Given the description of an element on the screen output the (x, y) to click on. 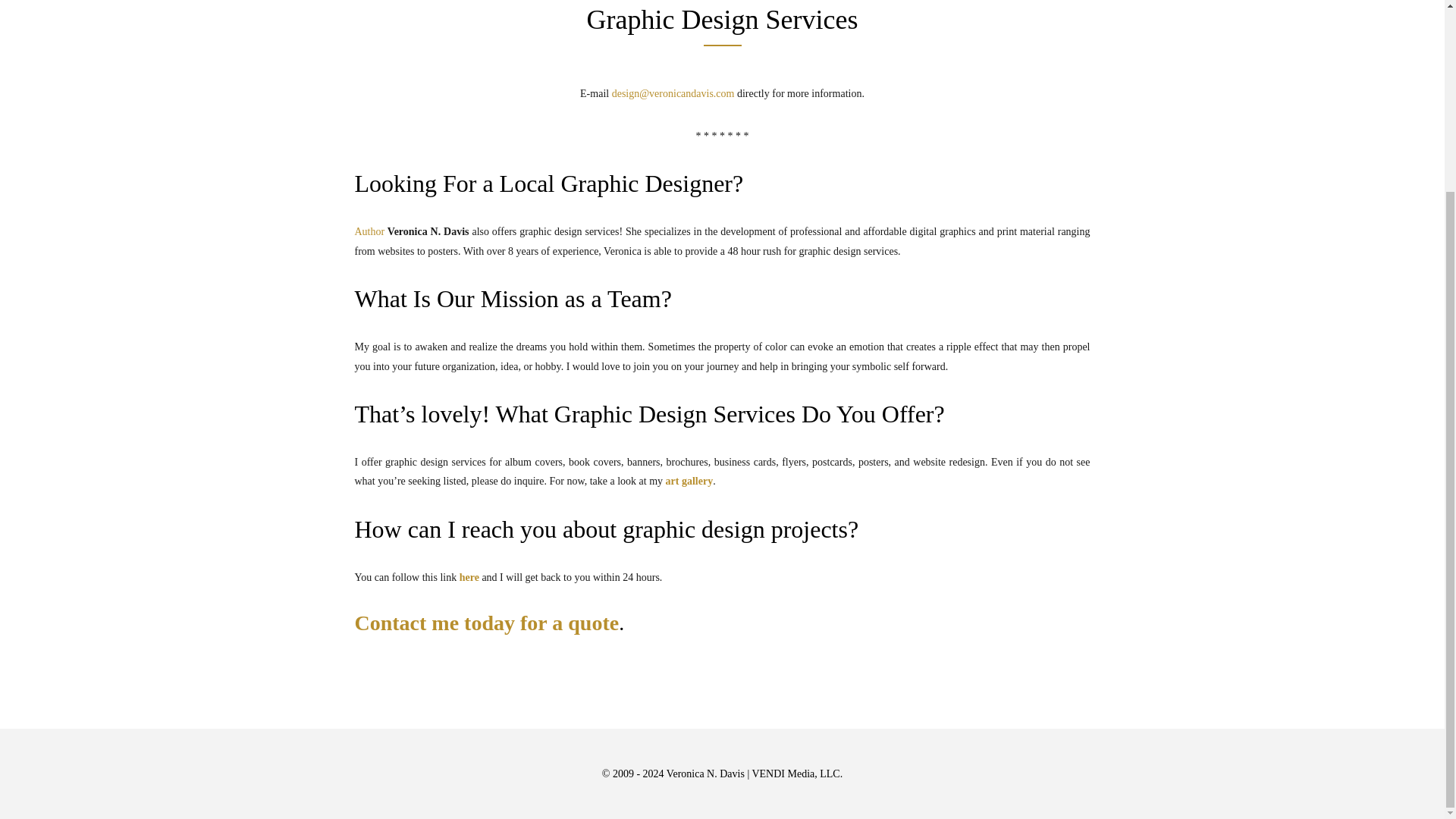
here (469, 577)
art gallery (689, 480)
Contact me today for a quote (487, 622)
Author (370, 231)
